Given the description of an element on the screen output the (x, y) to click on. 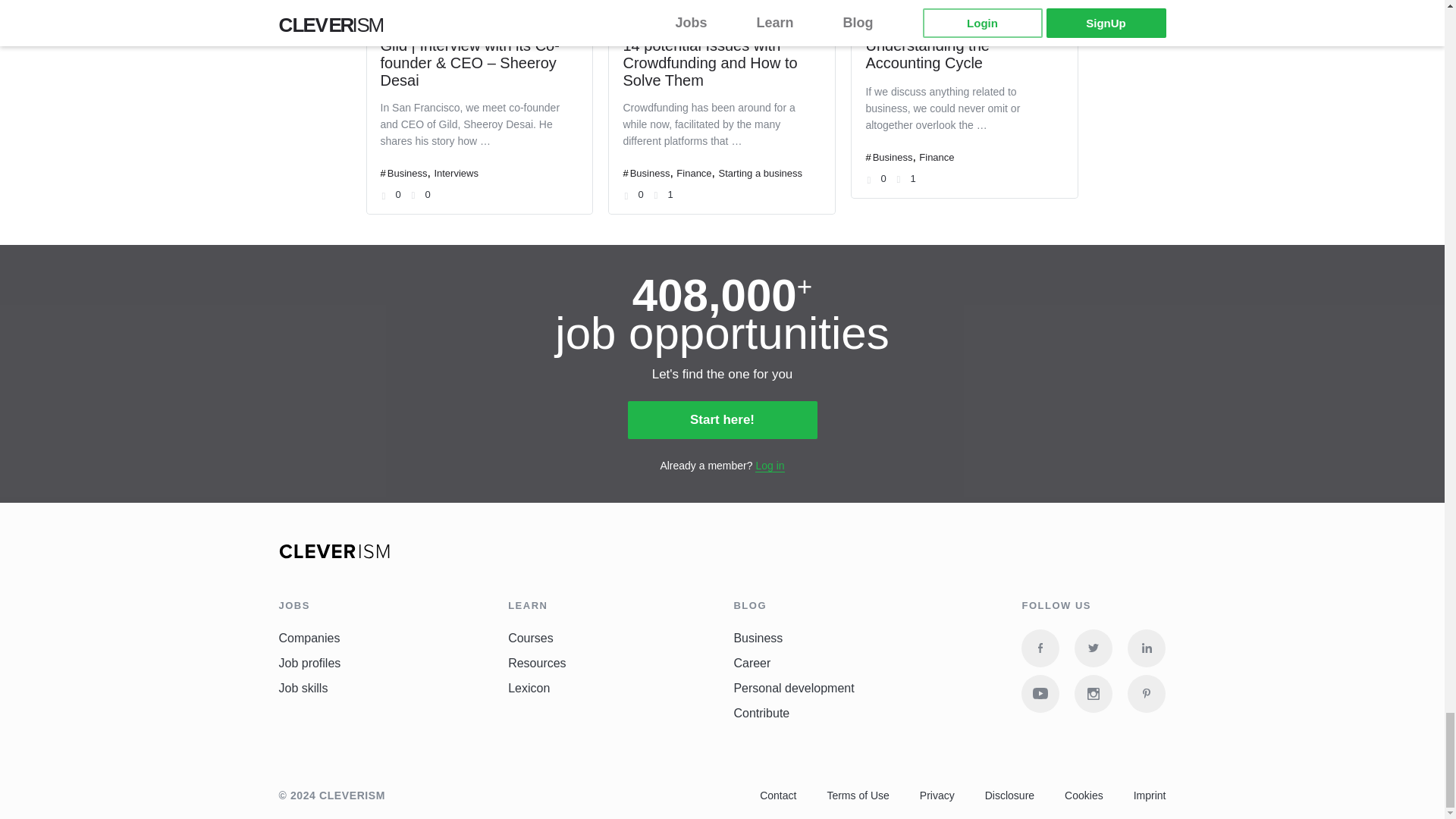
14 potential Issues with Crowdfunding and How to Solve Them (709, 62)
Business (407, 173)
Log in (769, 465)
Finance (935, 156)
Business (892, 156)
Companies (309, 638)
Interviews (456, 173)
Business (649, 173)
Understanding the Accounting Cycle (926, 53)
Start here! (721, 419)
